Given the description of an element on the screen output the (x, y) to click on. 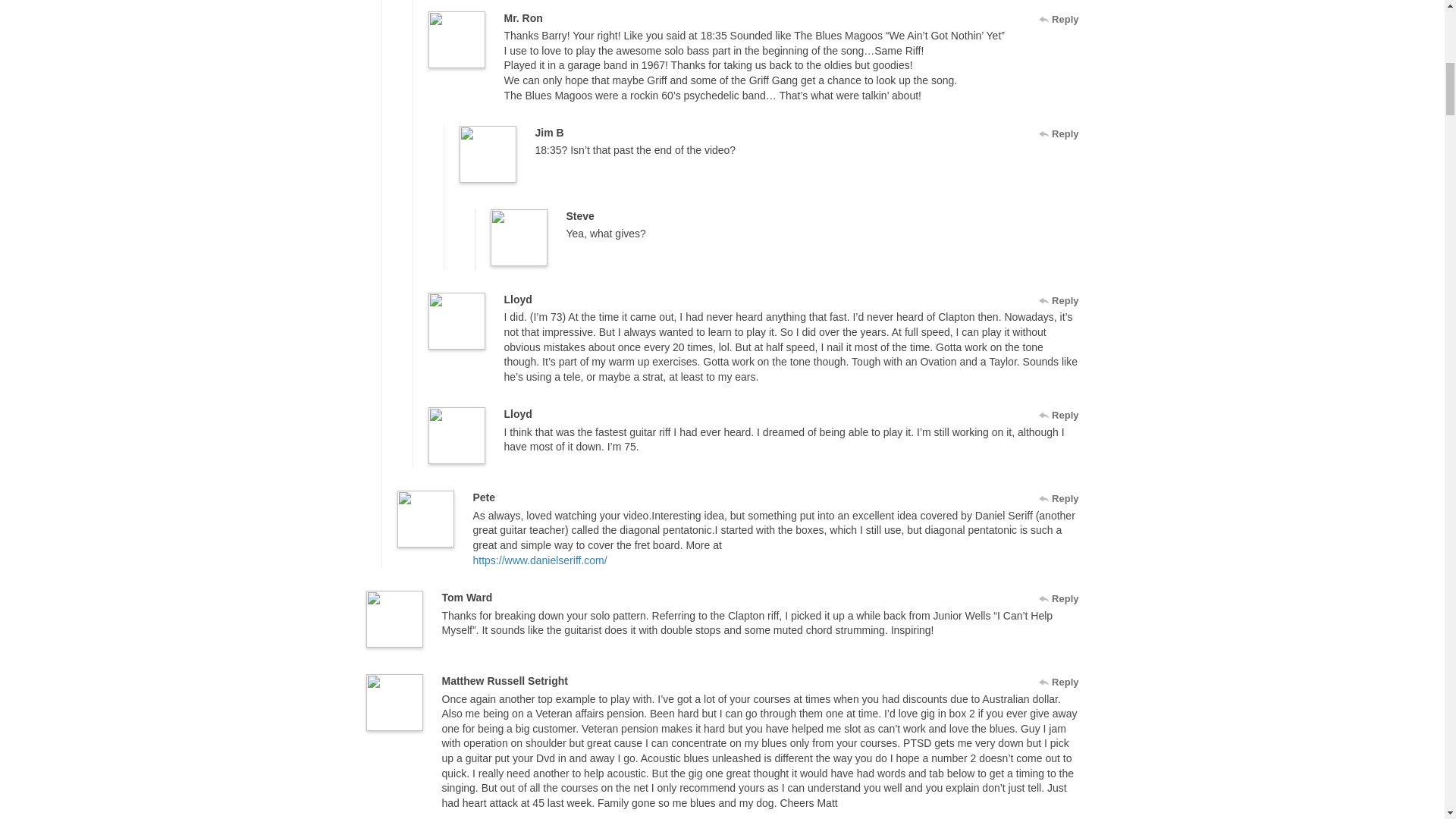
Reply (1058, 498)
Reply (1058, 134)
Reply (1058, 415)
Reply (1058, 682)
Reply (1058, 598)
Reply (1058, 300)
Reply (1058, 19)
